Given the description of an element on the screen output the (x, y) to click on. 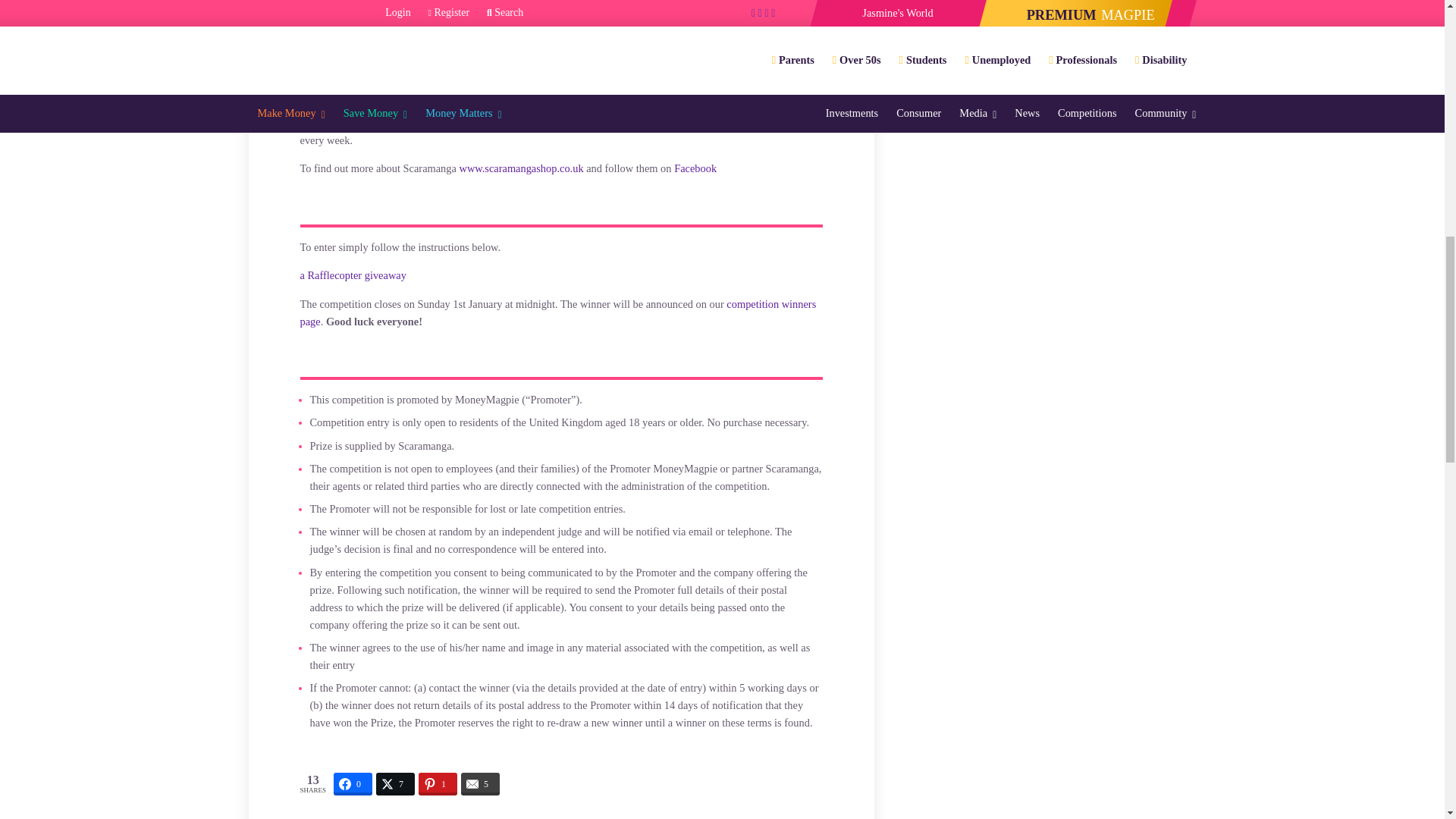
1 (926, 31)
Share on Facebook (352, 783)
Share on Twitter (394, 783)
Login (940, 69)
